Given the description of an element on the screen output the (x, y) to click on. 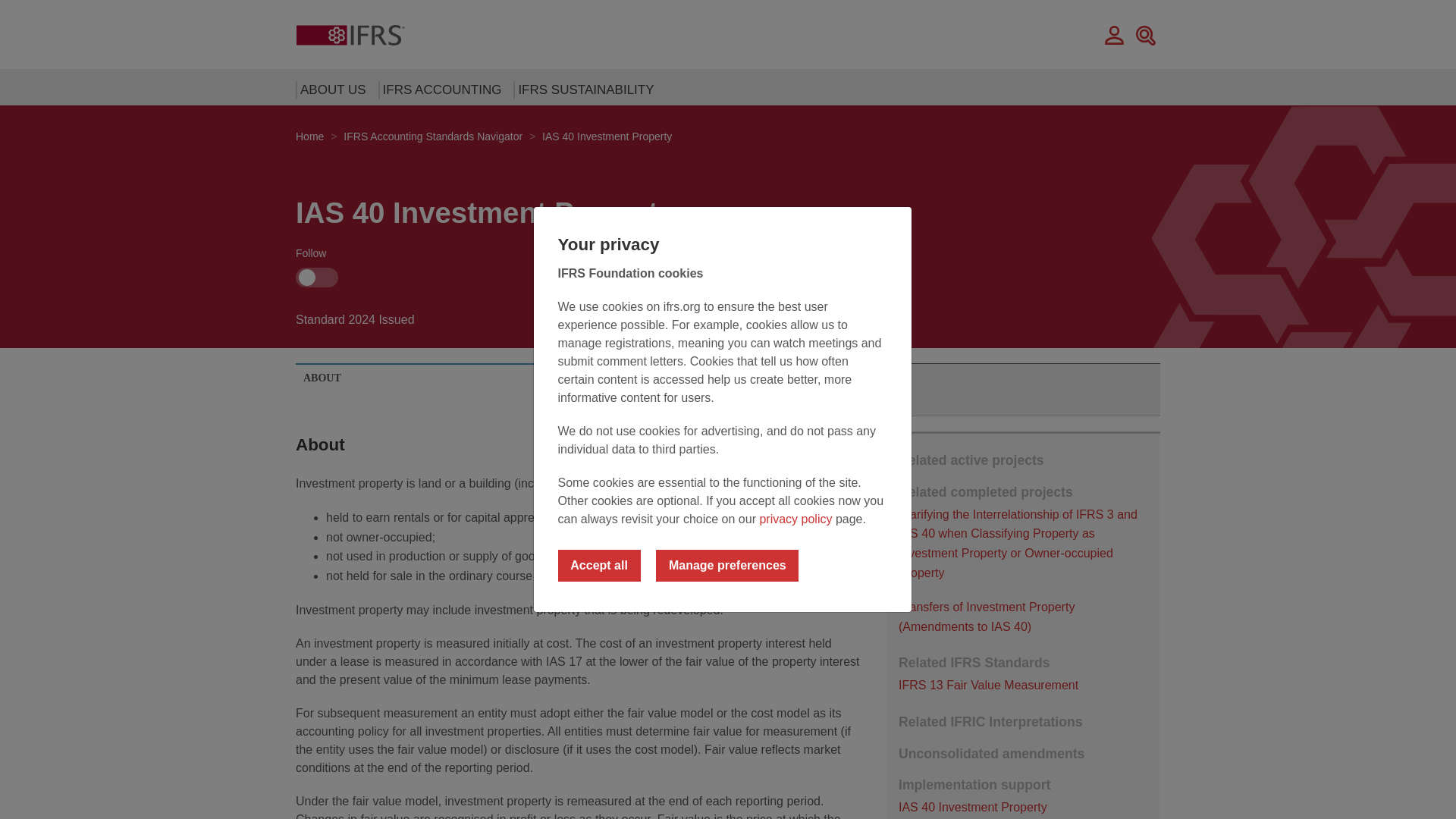
IFRS Home Page (350, 34)
IFRS ACCOUNTING (438, 89)
Dashboard (1114, 34)
ABOUT US (329, 89)
IFRS SUSTAINABILITY (581, 89)
